Given the description of an element on the screen output the (x, y) to click on. 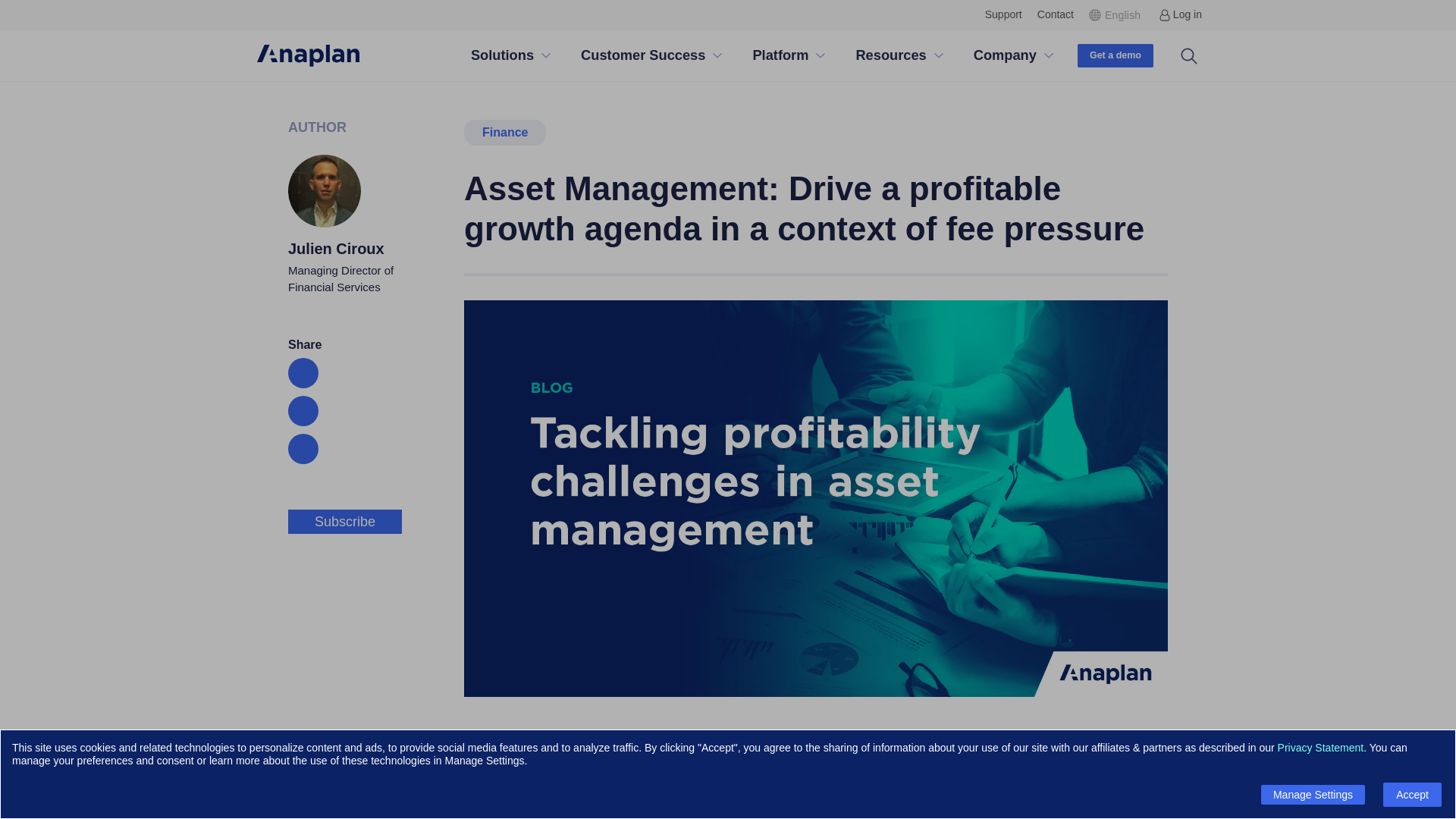
Platform (779, 55)
Customer Success (643, 55)
Solutions (502, 55)
English (1115, 14)
Company (1005, 55)
Get a demo (1115, 55)
Contact (1055, 14)
Log in (1180, 14)
Resources (889, 55)
Support (1003, 14)
